Given the description of an element on the screen output the (x, y) to click on. 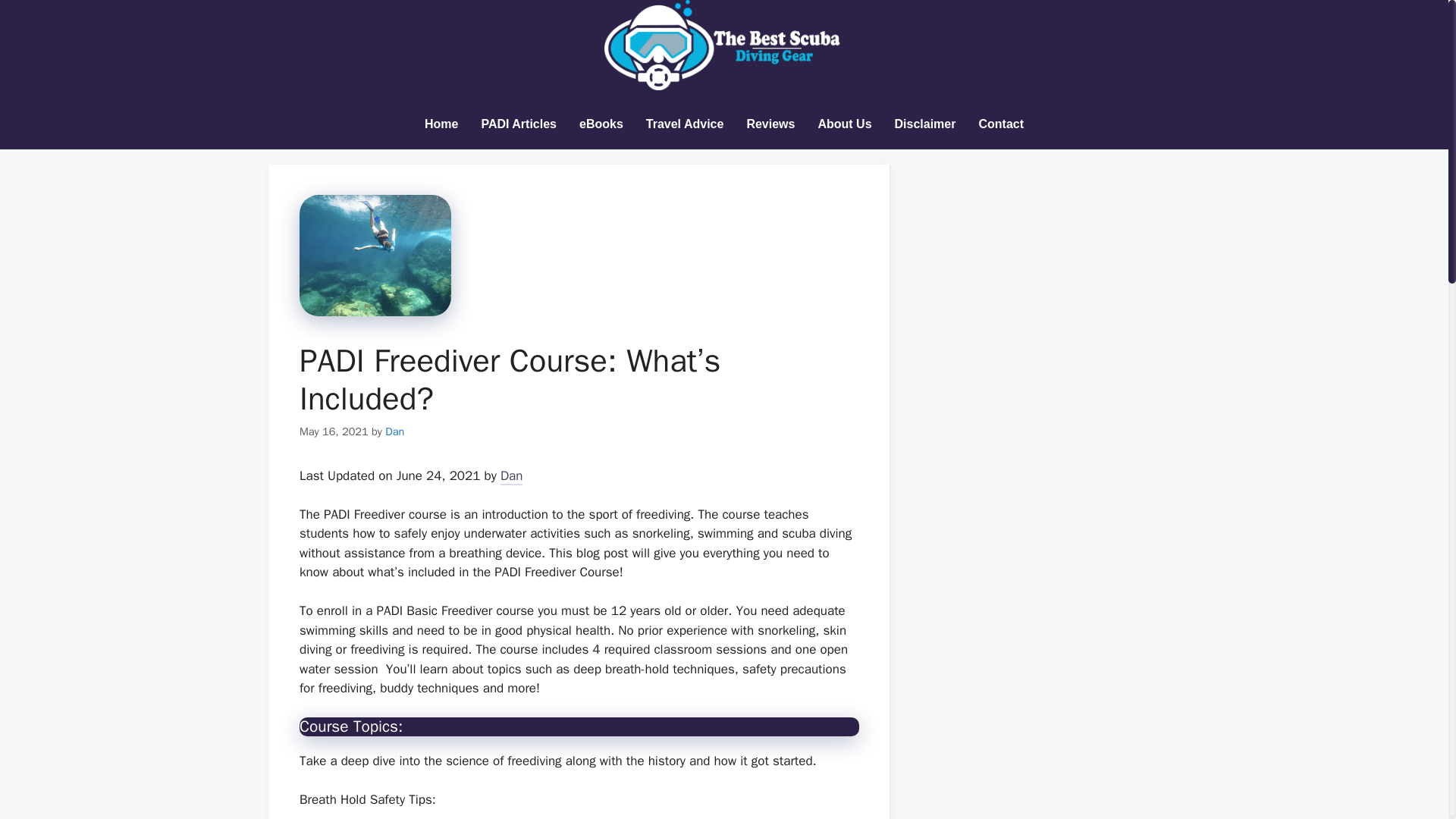
Home (440, 124)
Dan (394, 431)
About Us (844, 124)
Contact (1000, 124)
Disclaimer (925, 124)
Travel Advice (684, 124)
eBooks (600, 124)
Dan (511, 476)
PADI Articles (517, 124)
View all posts by Dan (394, 431)
Reviews (770, 124)
